Given the description of an element on the screen output the (x, y) to click on. 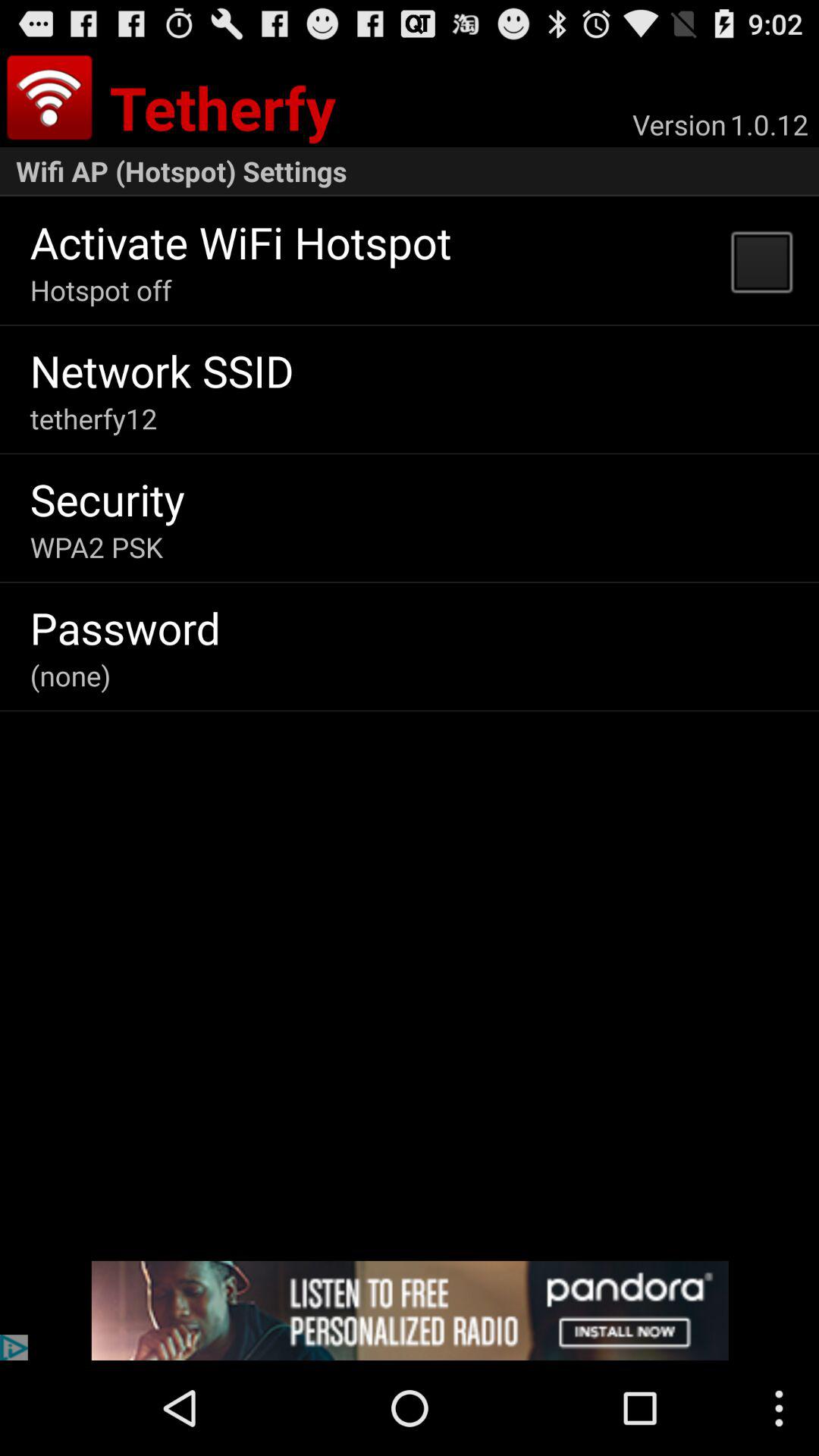
flip until the hotspot off app (100, 289)
